Given the description of an element on the screen output the (x, y) to click on. 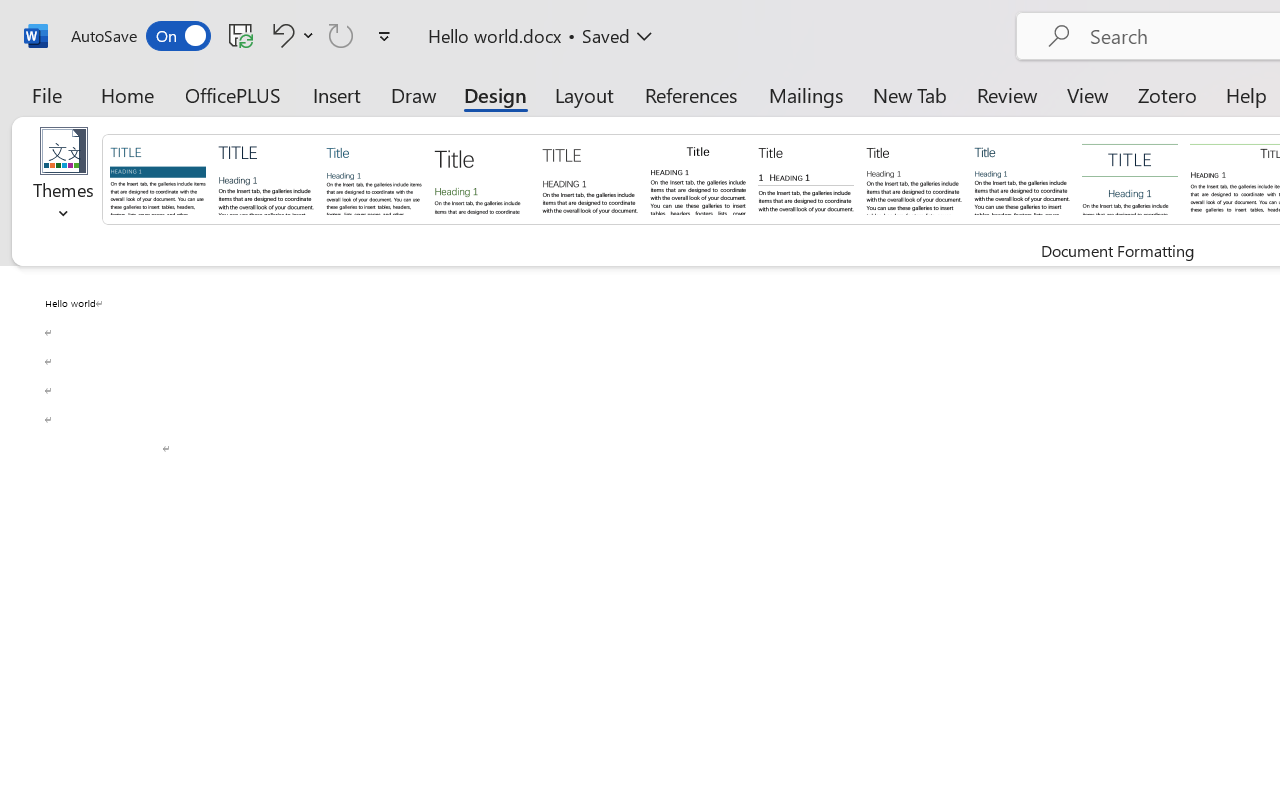
Insert (337, 94)
Undo Apply Quick Style Set (290, 35)
Draw (413, 94)
Mailings (806, 94)
